Given the description of an element on the screen output the (x, y) to click on. 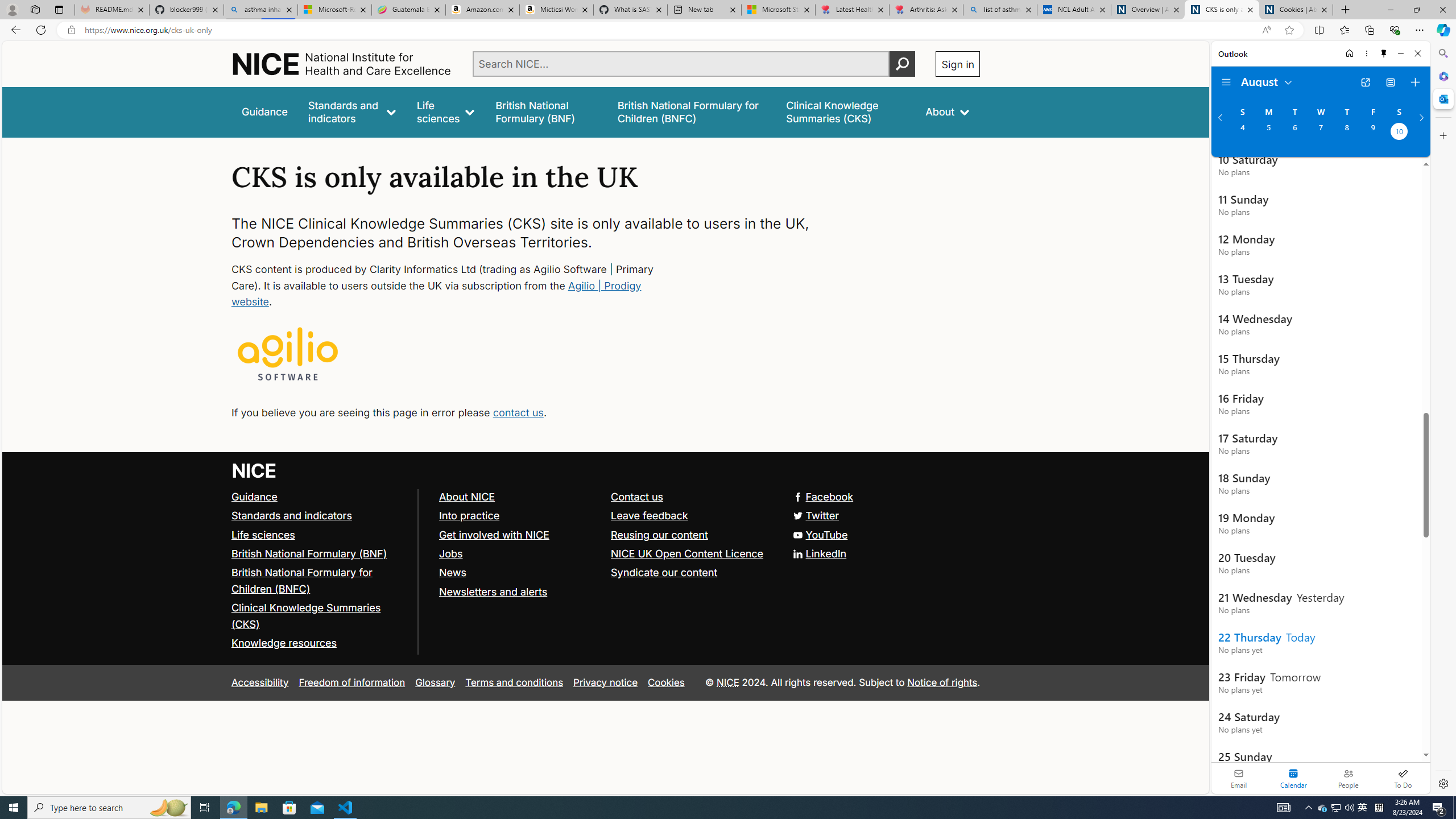
list of asthma inhalers uk - Search (1000, 9)
Close (1417, 53)
Glossary (434, 682)
British National Formulary for Children (BNFC) (301, 579)
Sign in (957, 63)
Folder navigation (1225, 82)
Unpin side pane (1383, 53)
Knowledge resources (283, 643)
View site information (70, 29)
Favorites (1344, 29)
